Given the description of an element on the screen output the (x, y) to click on. 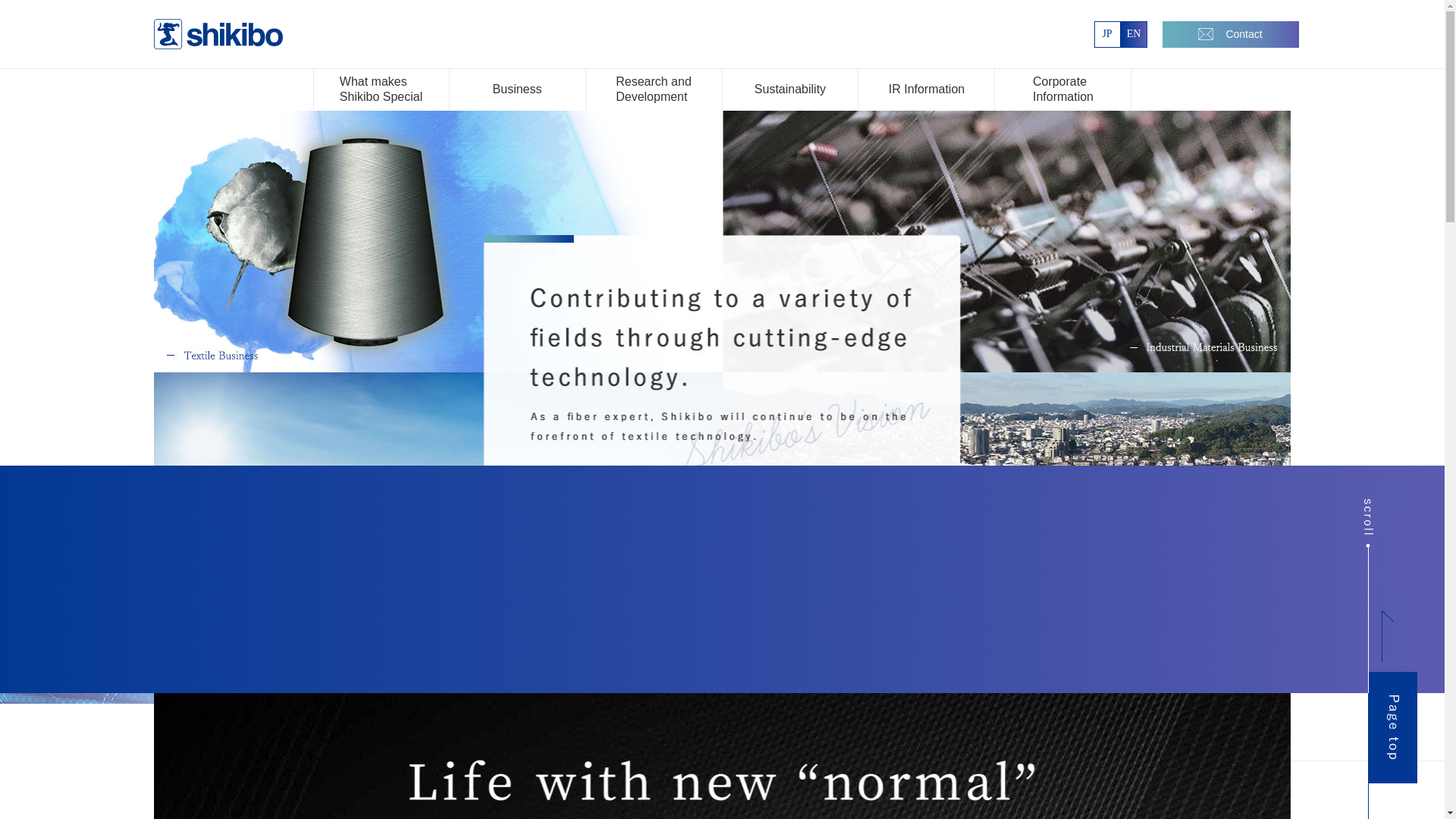
JP (1062, 88)
EN (654, 88)
IR Information (1106, 34)
Sustainability (1134, 34)
Business (926, 88)
Contact (790, 88)
